Given the description of an element on the screen output the (x, y) to click on. 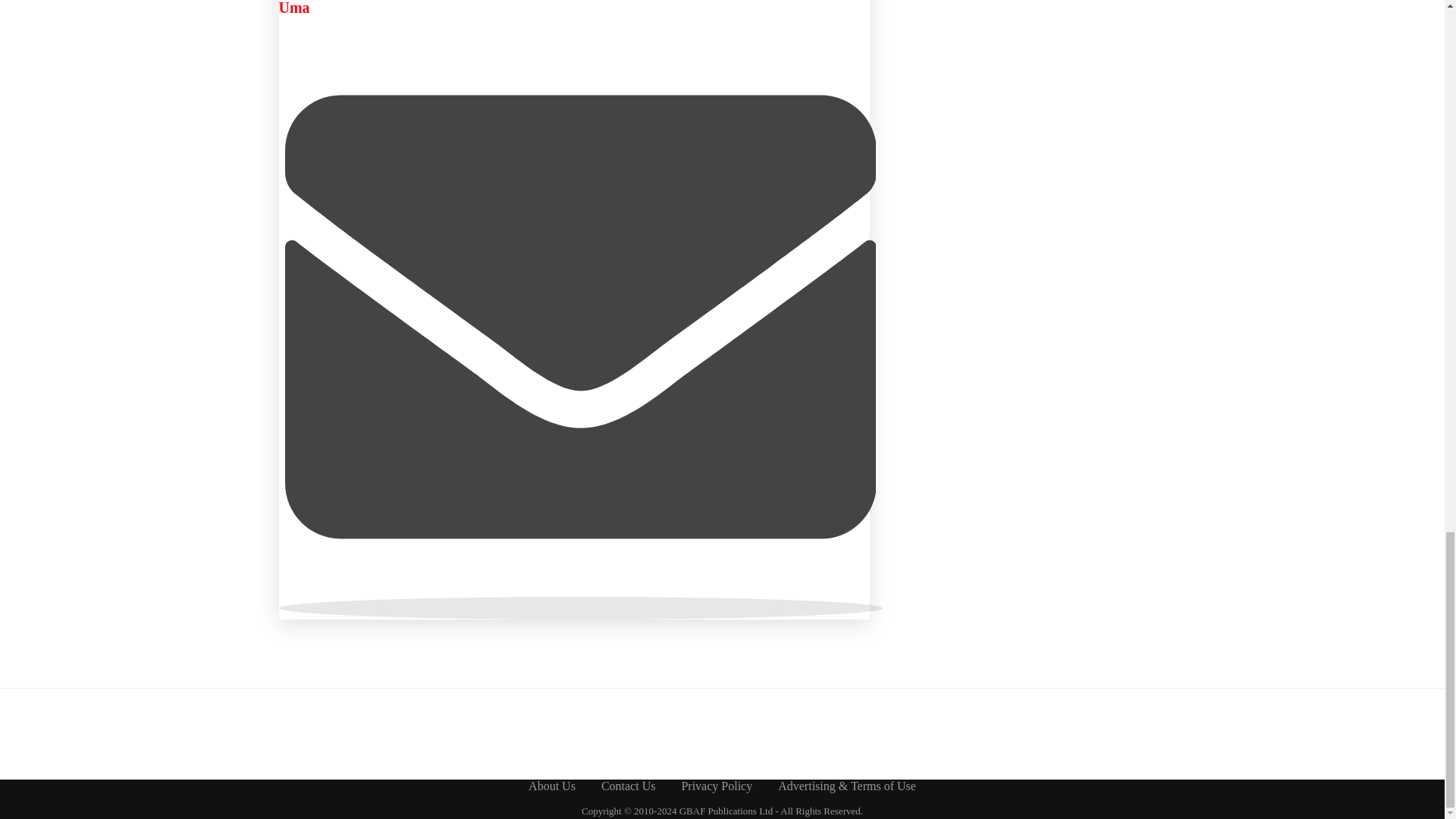
User email (581, 608)
